Given the description of an element on the screen output the (x, y) to click on. 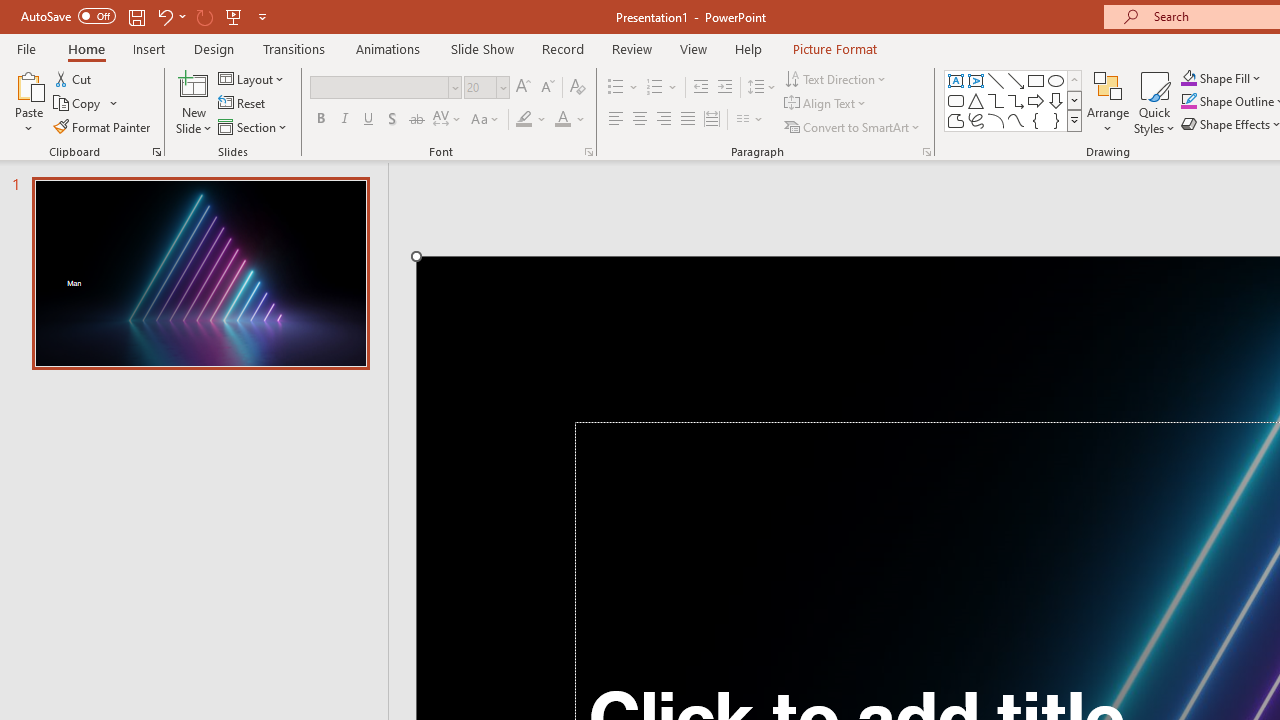
Picture Format (834, 48)
